Given the description of an element on the screen output the (x, y) to click on. 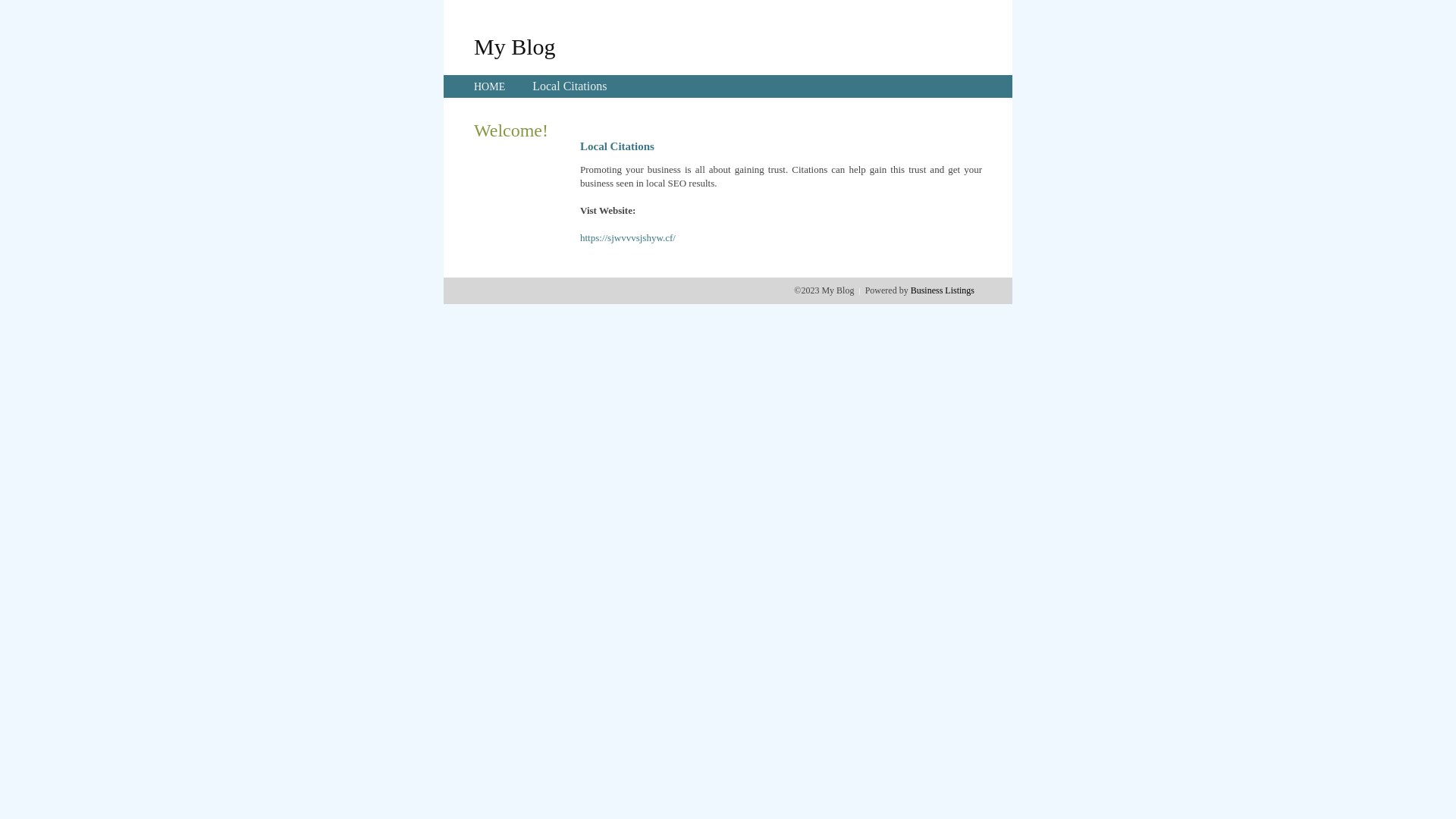
Business Listings Element type: text (942, 290)
Local Citations Element type: text (569, 85)
HOME Element type: text (489, 86)
My Blog Element type: text (514, 46)
https://sjwvvvsjshyw.cf/ Element type: text (627, 237)
